Given the description of an element on the screen output the (x, y) to click on. 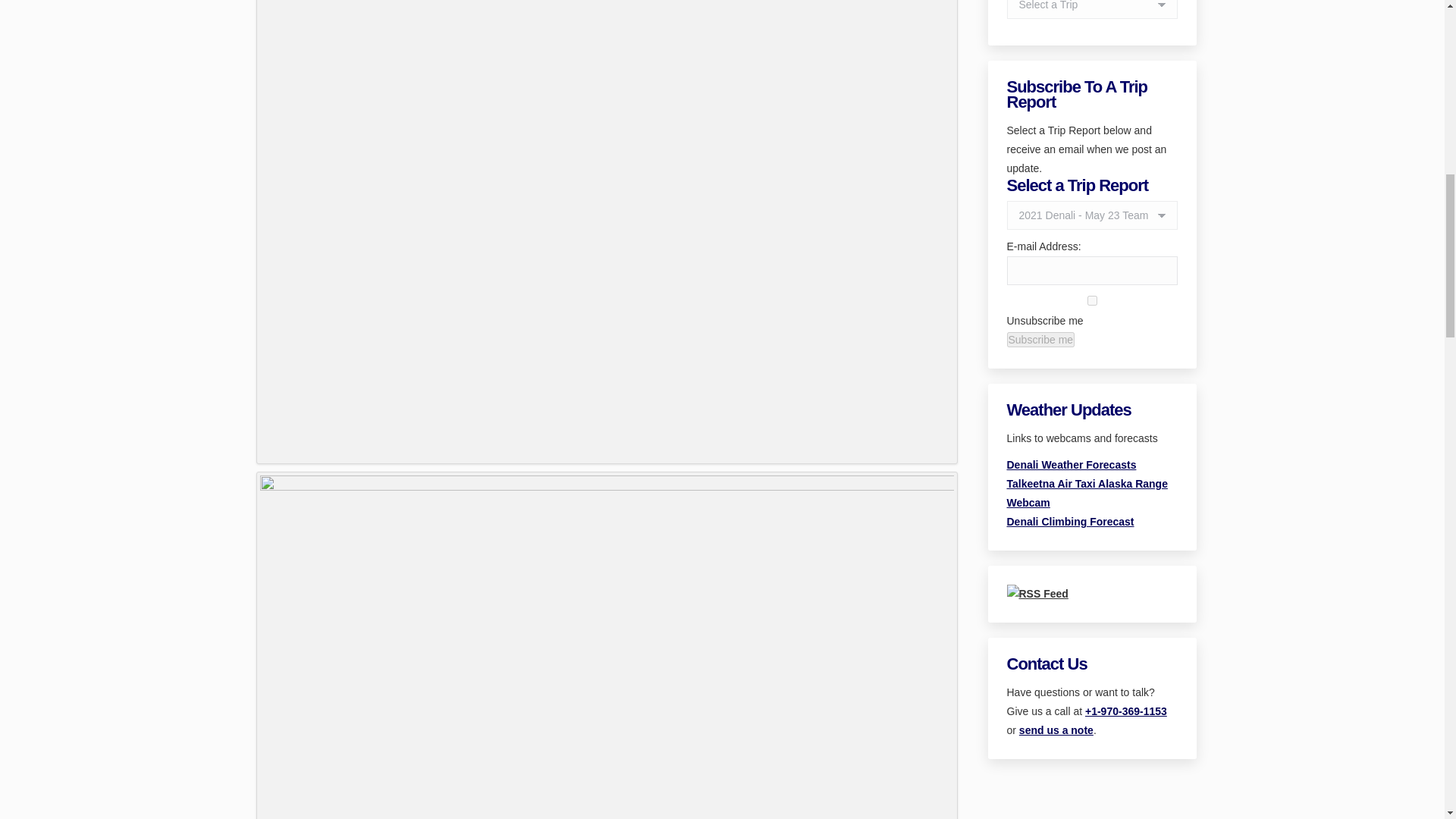
Subscribe to RSS Feed (1037, 593)
1 (1092, 300)
